Given the description of an element on the screen output the (x, y) to click on. 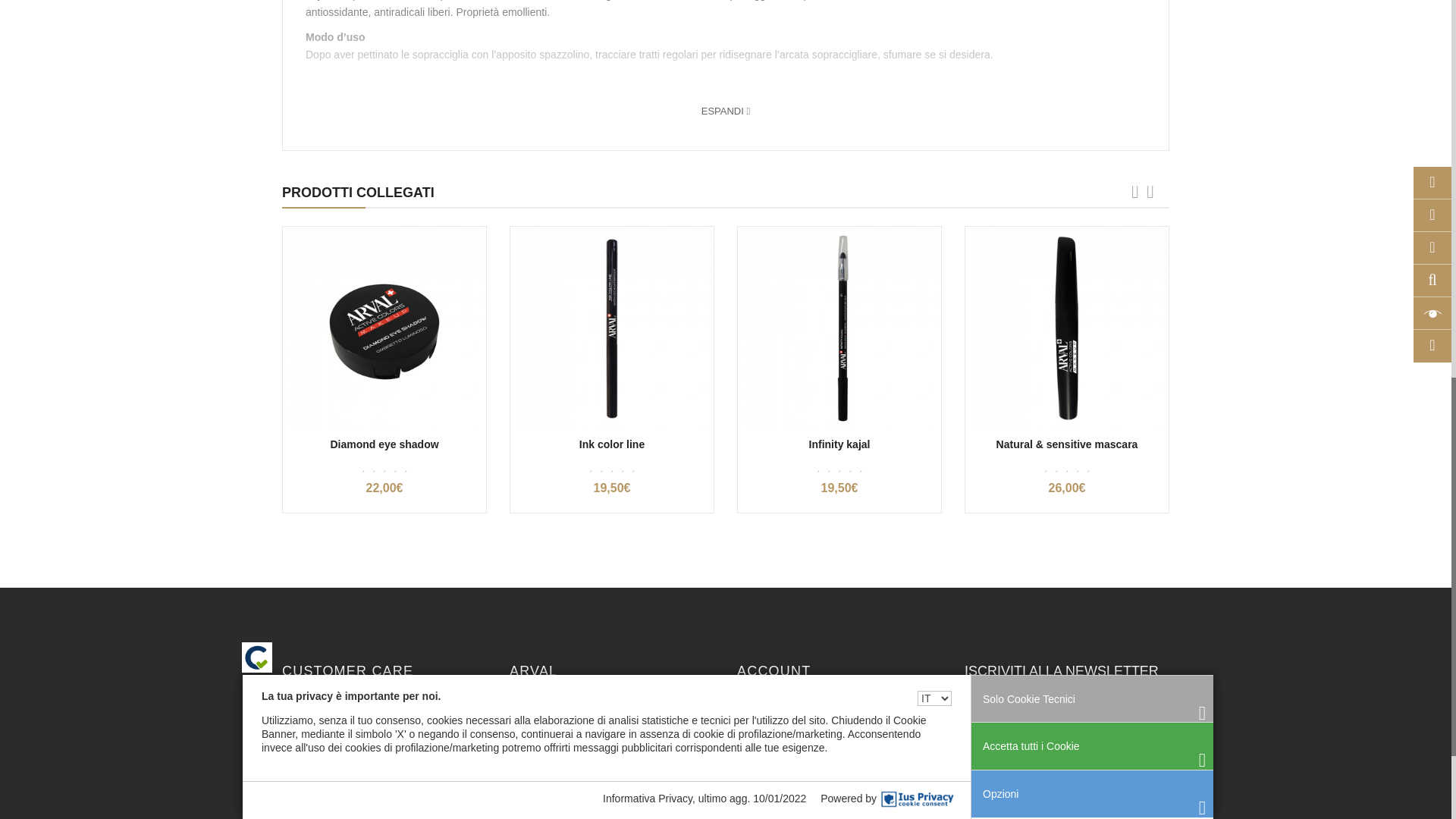
Diamond eye shadow  (384, 327)
Page 8 (725, 31)
